Given the description of an element on the screen output the (x, y) to click on. 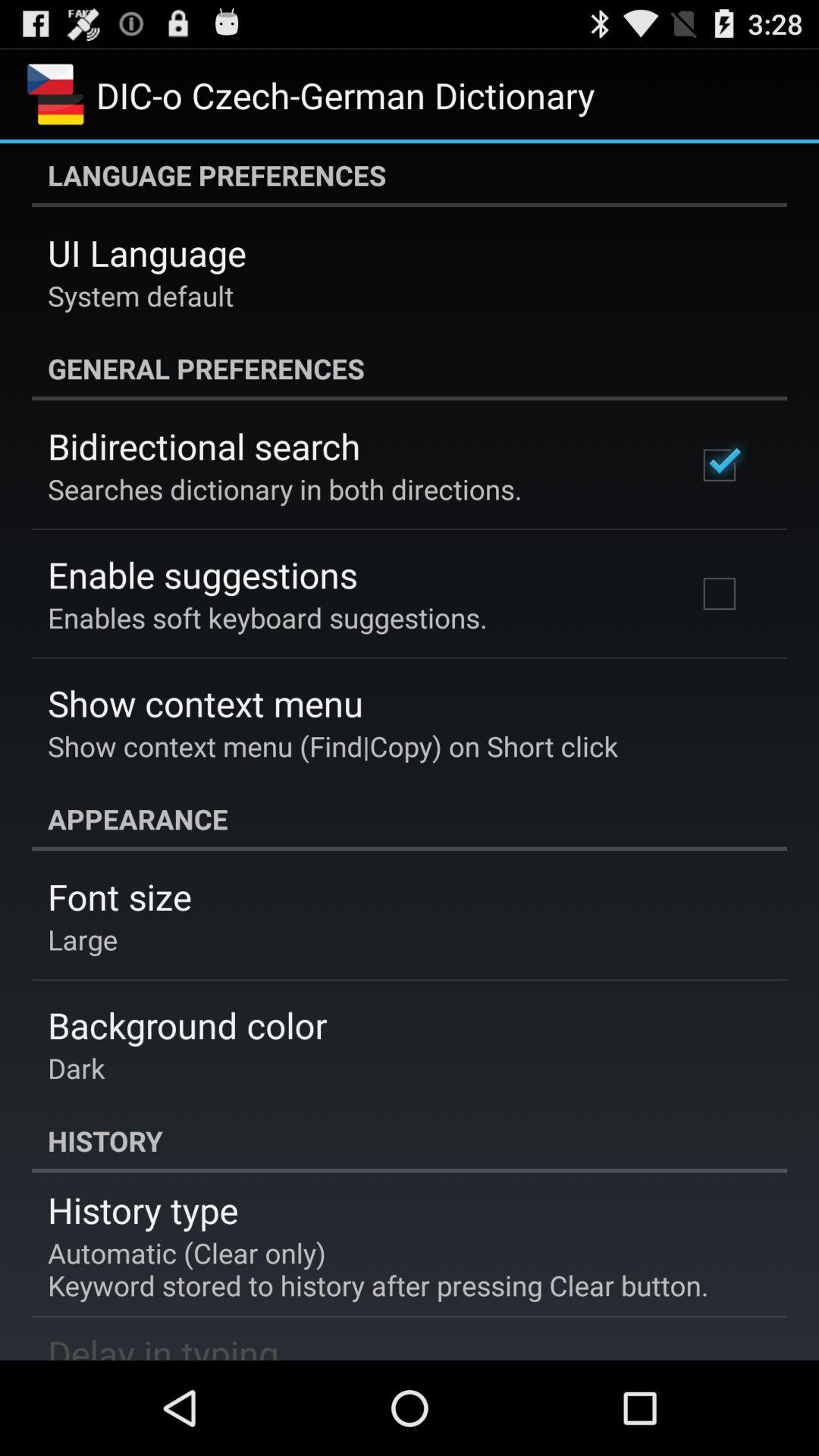
turn on the item below the general preferences icon (203, 446)
